Given the description of an element on the screen output the (x, y) to click on. 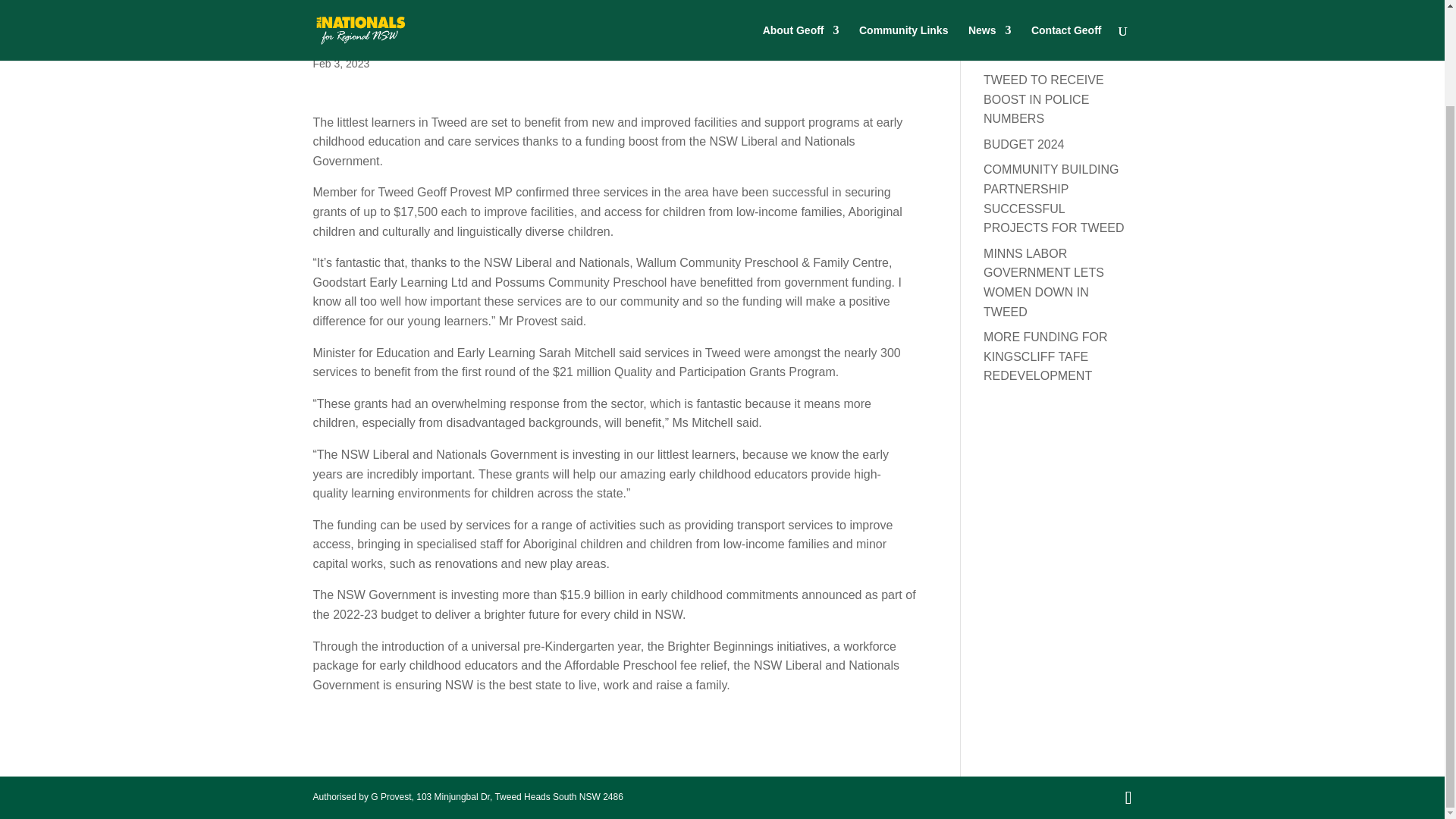
Search (1104, 12)
TWEED TO RECEIVE BOOST IN POLICE NUMBERS (1043, 99)
COMMUNITY BUILDING PARTNERSHIP SUCCESSFUL PROJECTS FOR TWEED (1054, 198)
BUDGET 2024 (1024, 144)
MORE FUNDING FOR KINGSCLIFF TAFE REDEVELOPMENT (1046, 356)
Search (1104, 12)
MINNS LABOR GOVERNMENT LETS WOMEN DOWN IN TWEED (1043, 282)
